Given the description of an element on the screen output the (x, y) to click on. 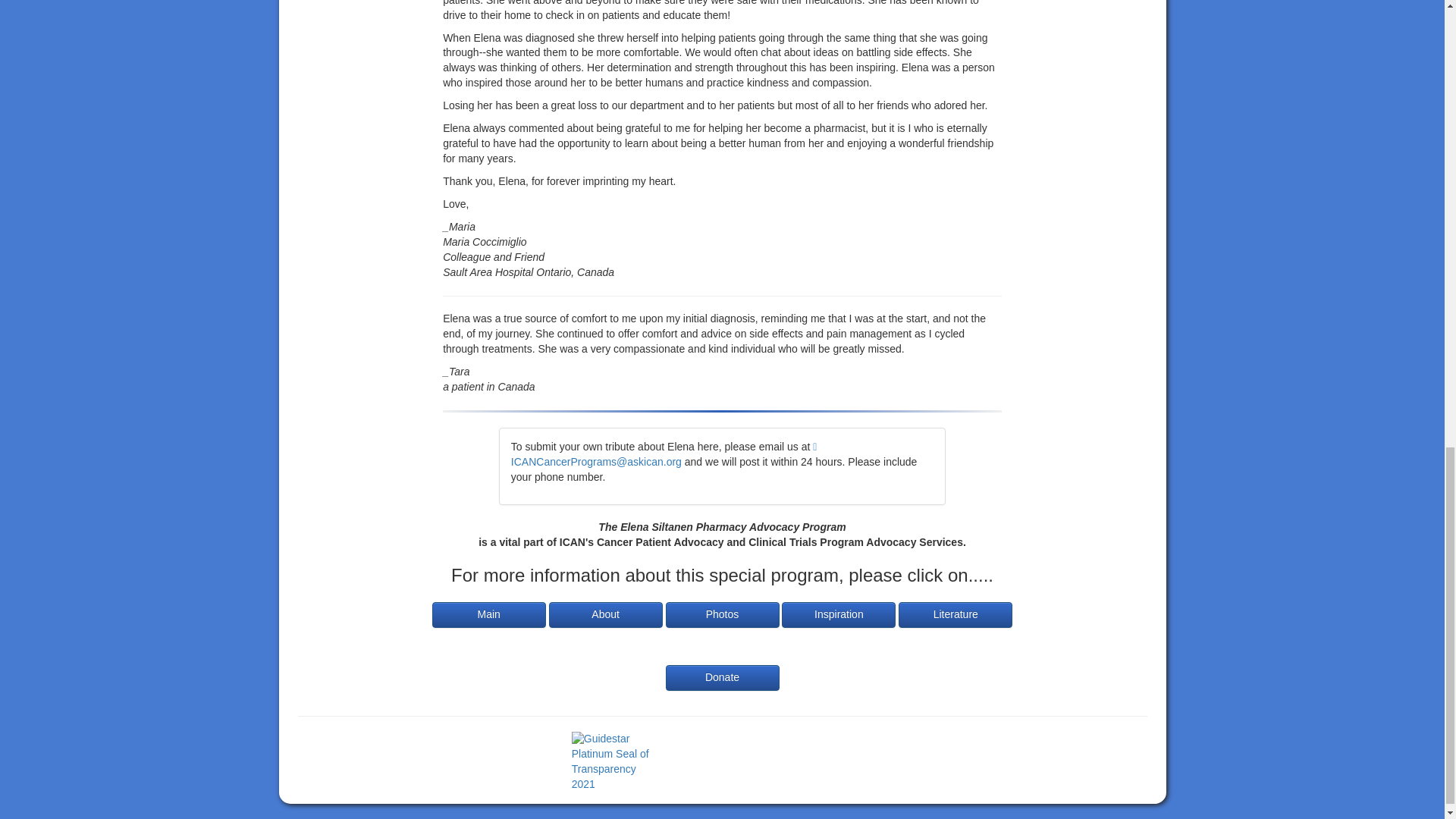
Main (489, 614)
About (605, 614)
Photos (721, 614)
